Given the description of an element on the screen output the (x, y) to click on. 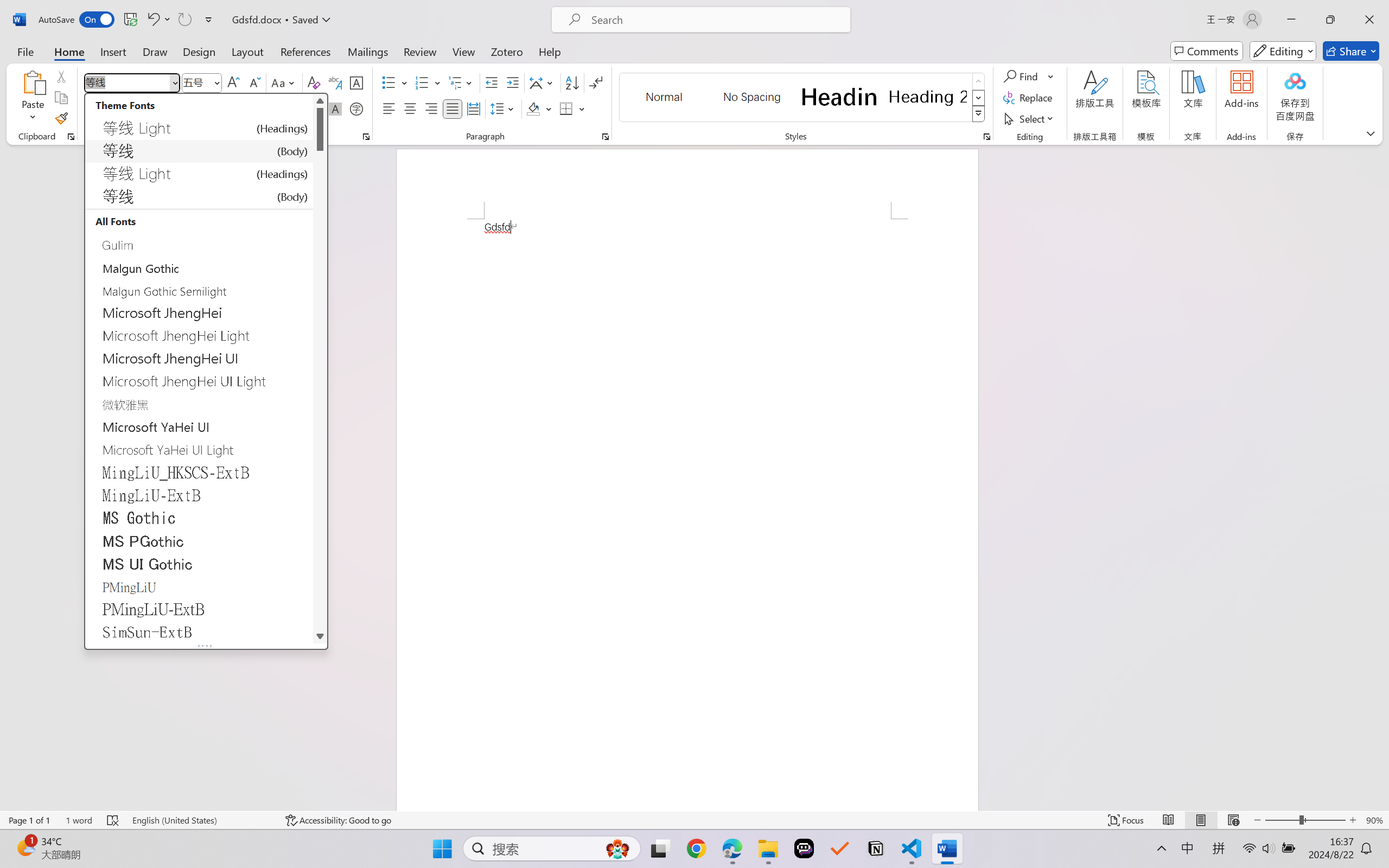
Shading RGB(0, 0, 0) (533, 108)
Office Clipboard... (70, 136)
Multilevel List (461, 82)
SimSun-ExtB (198, 631)
Microsoft YaHei UI (198, 426)
